Given the description of an element on the screen output the (x, y) to click on. 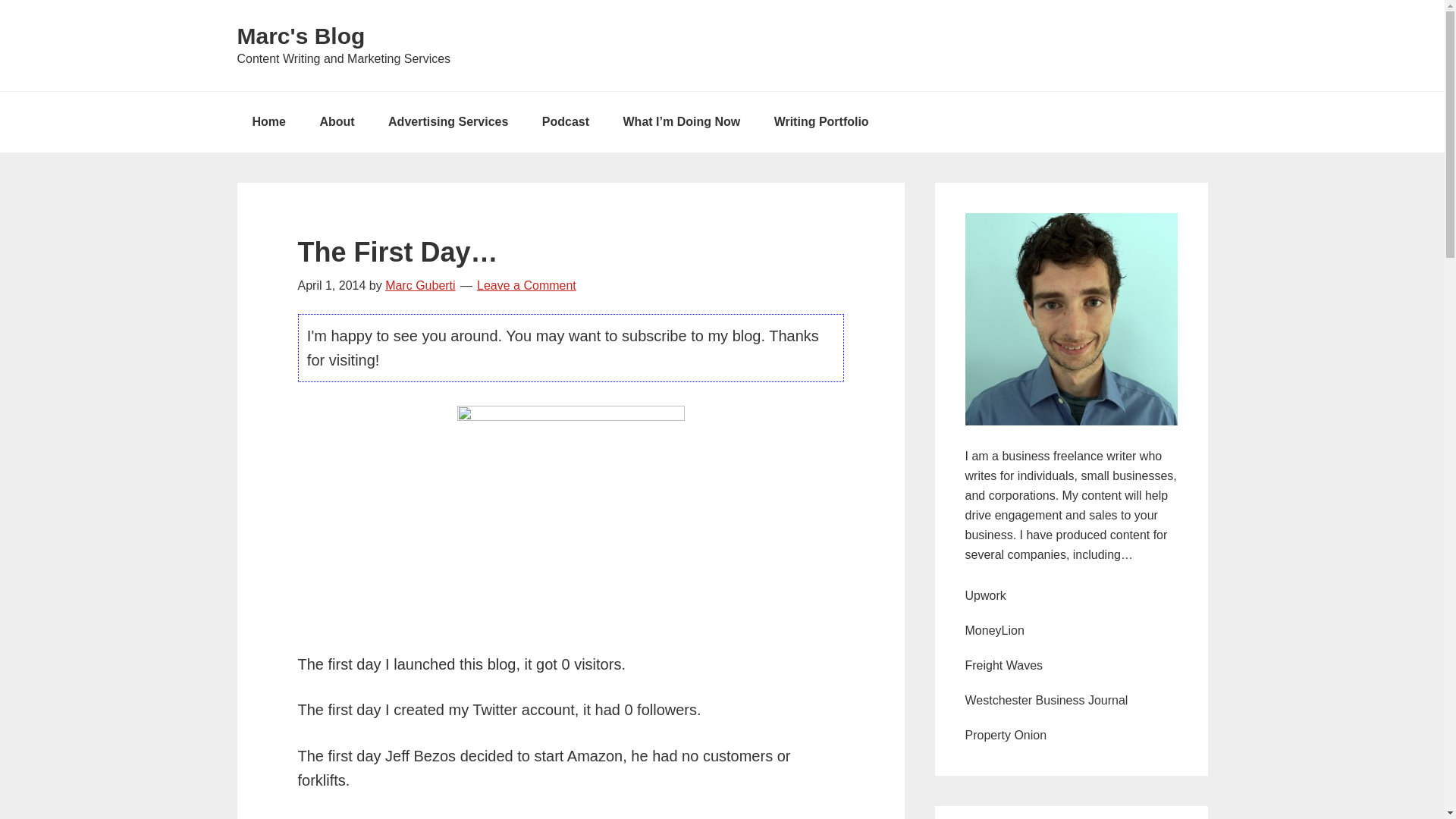
Leave a Comment (526, 285)
Podcast (565, 121)
Writing Portfolio (820, 121)
Home (267, 121)
Marc's Blog (300, 35)
Advertising Services (447, 121)
Marc Guberti (419, 285)
About (336, 121)
